Given the description of an element on the screen output the (x, y) to click on. 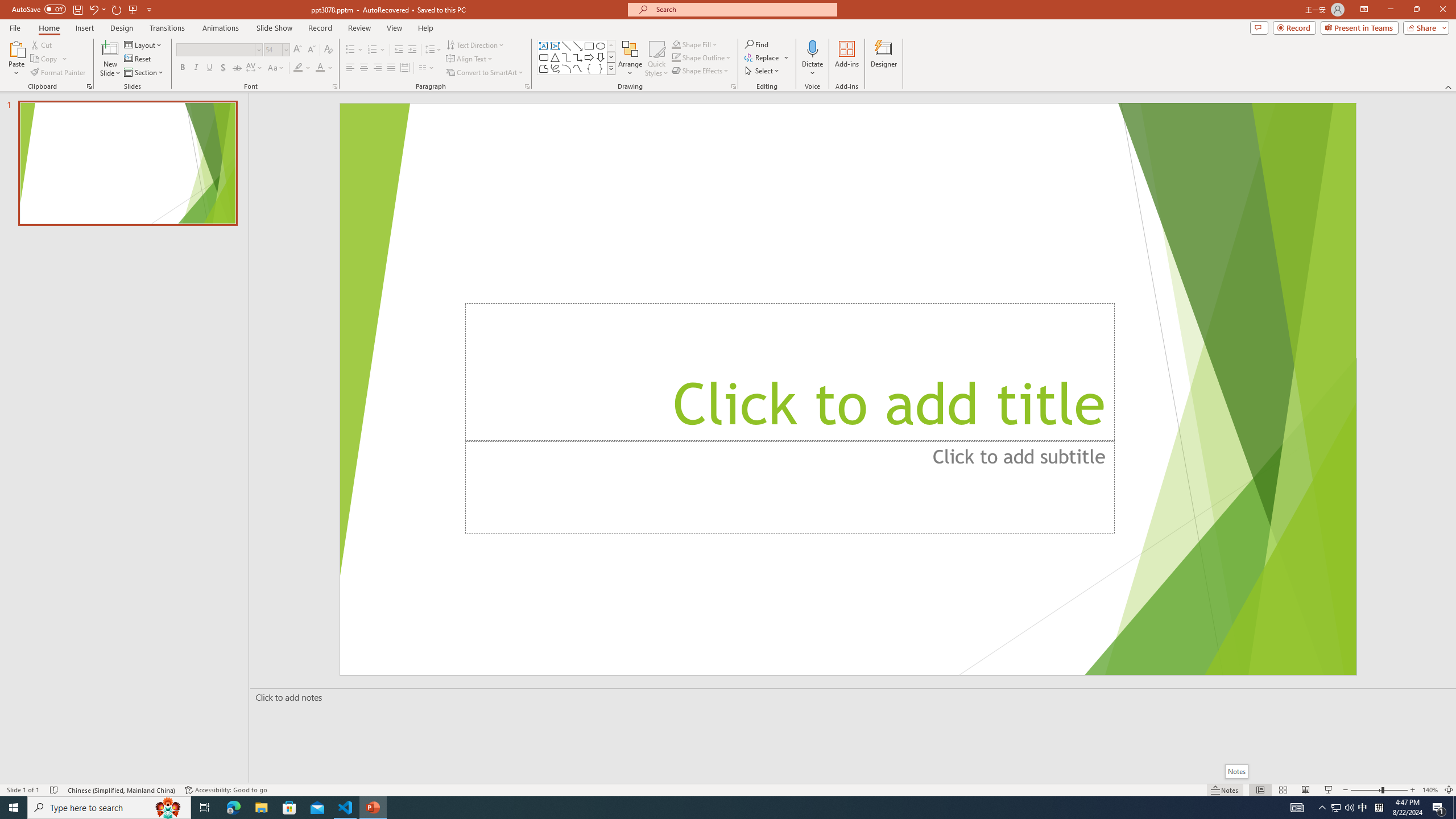
Shape Fill Dark Green, Accent 2 (675, 44)
